Given the description of an element on the screen output the (x, y) to click on. 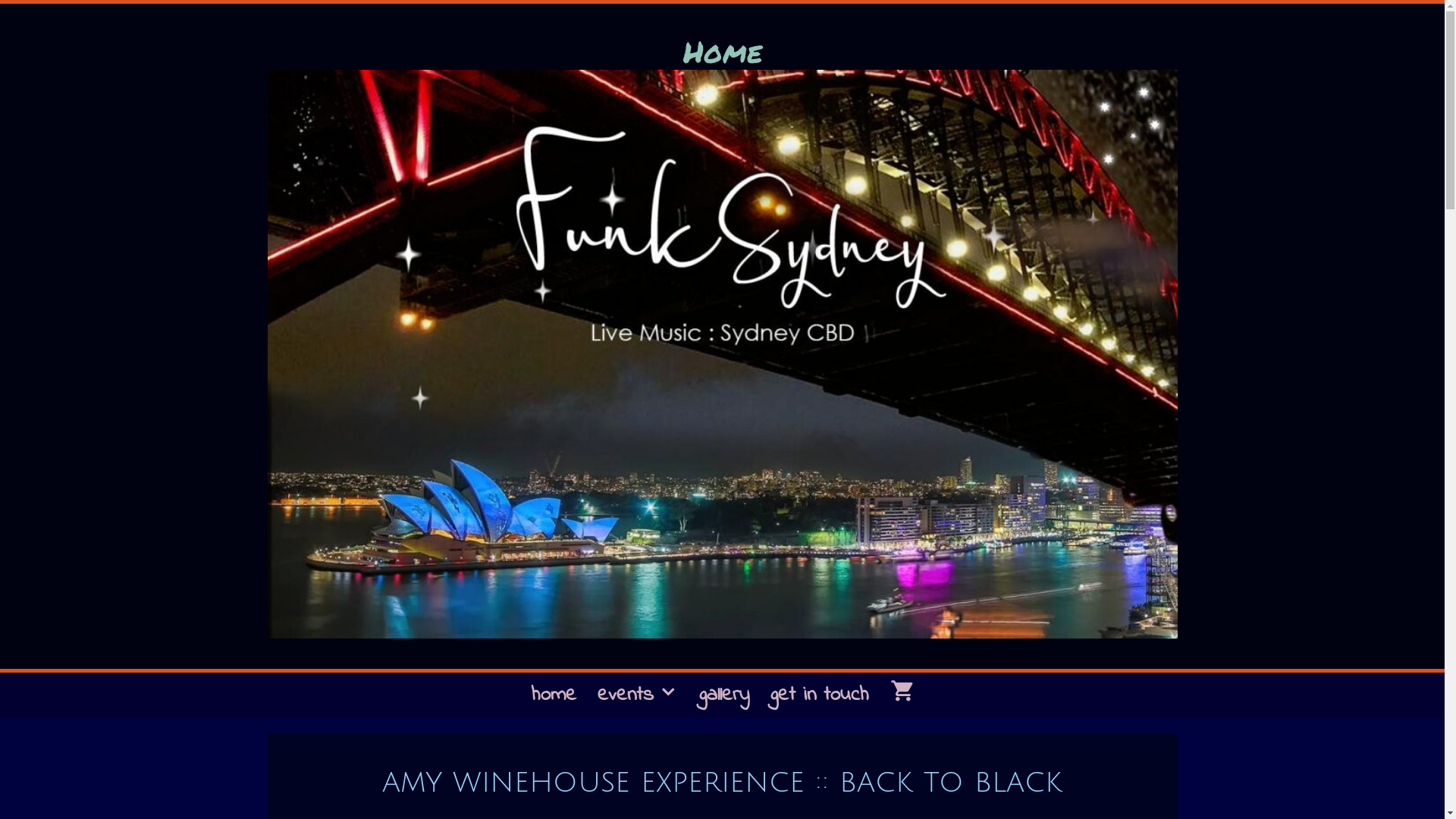
Home Element type: text (721, 51)
get in touch Element type: text (819, 695)
home Element type: text (553, 695)
events Element type: text (637, 695)
View your shopping cart Element type: hover (901, 695)
gallery Element type: text (723, 695)
